Given the description of an element on the screen output the (x, y) to click on. 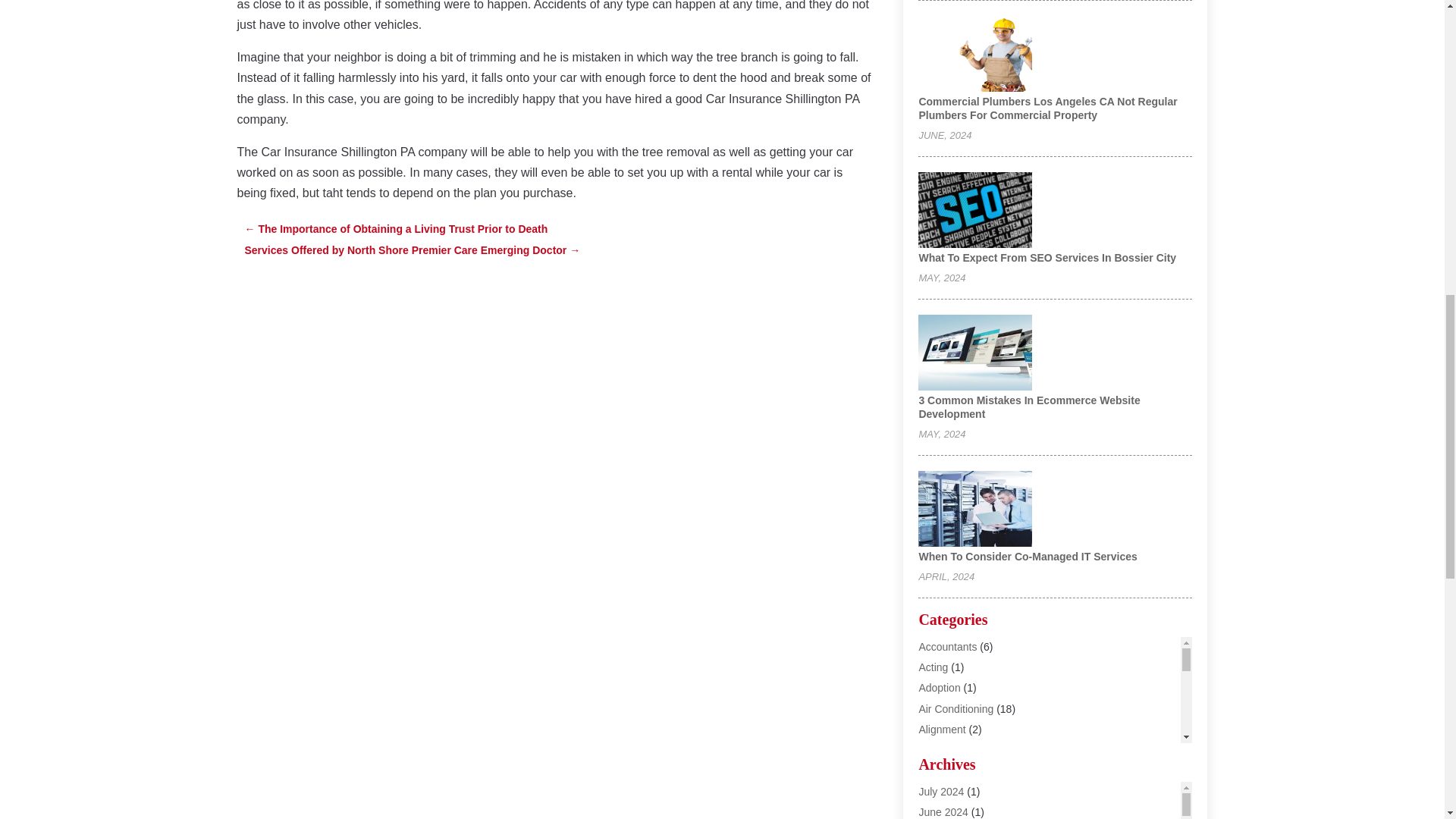
Air Conditioning (955, 708)
When To Consider Co-Managed IT Services (1027, 556)
Appliances (944, 770)
Allergy-Doctor (951, 749)
Alignment (941, 729)
Acting (932, 666)
Bail Bonds (943, 811)
3 Common Mistakes In Ecommerce Website Development (1029, 406)
What To Expect From SEO Services In Bossier City (1047, 257)
Automotive (944, 790)
Accountants (947, 646)
Adoption (938, 687)
